Given the description of an element on the screen output the (x, y) to click on. 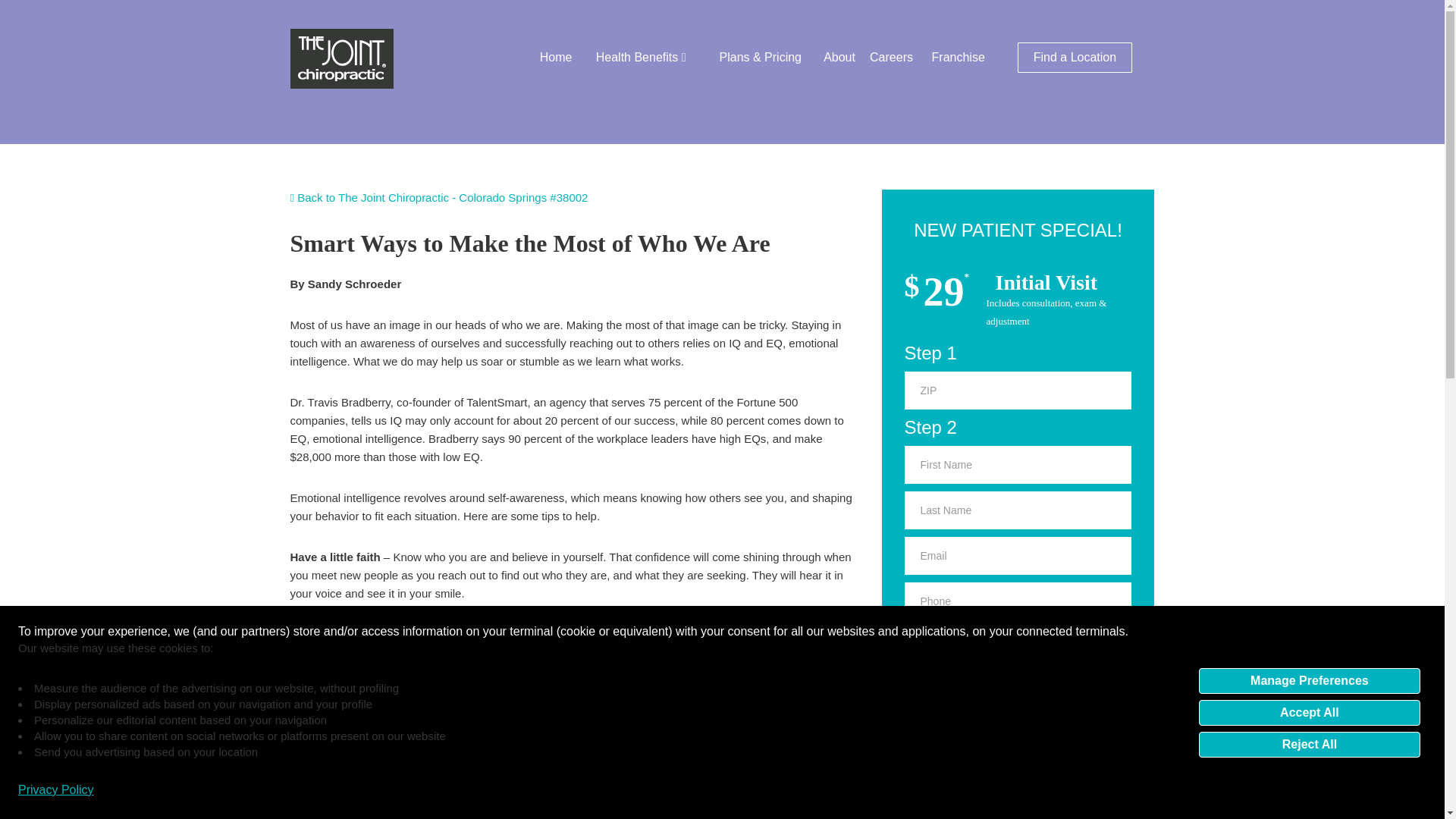
Find a Location (1074, 57)
Careers (890, 57)
Reject All (1309, 743)
Accept All (1309, 711)
Clinic Nearest you. (1018, 692)
Franchise (958, 57)
Been to a Chiropractor Before? (1018, 647)
Health Benefits (640, 57)
About (840, 57)
Manage Preferences (1309, 679)
